Given the description of an element on the screen output the (x, y) to click on. 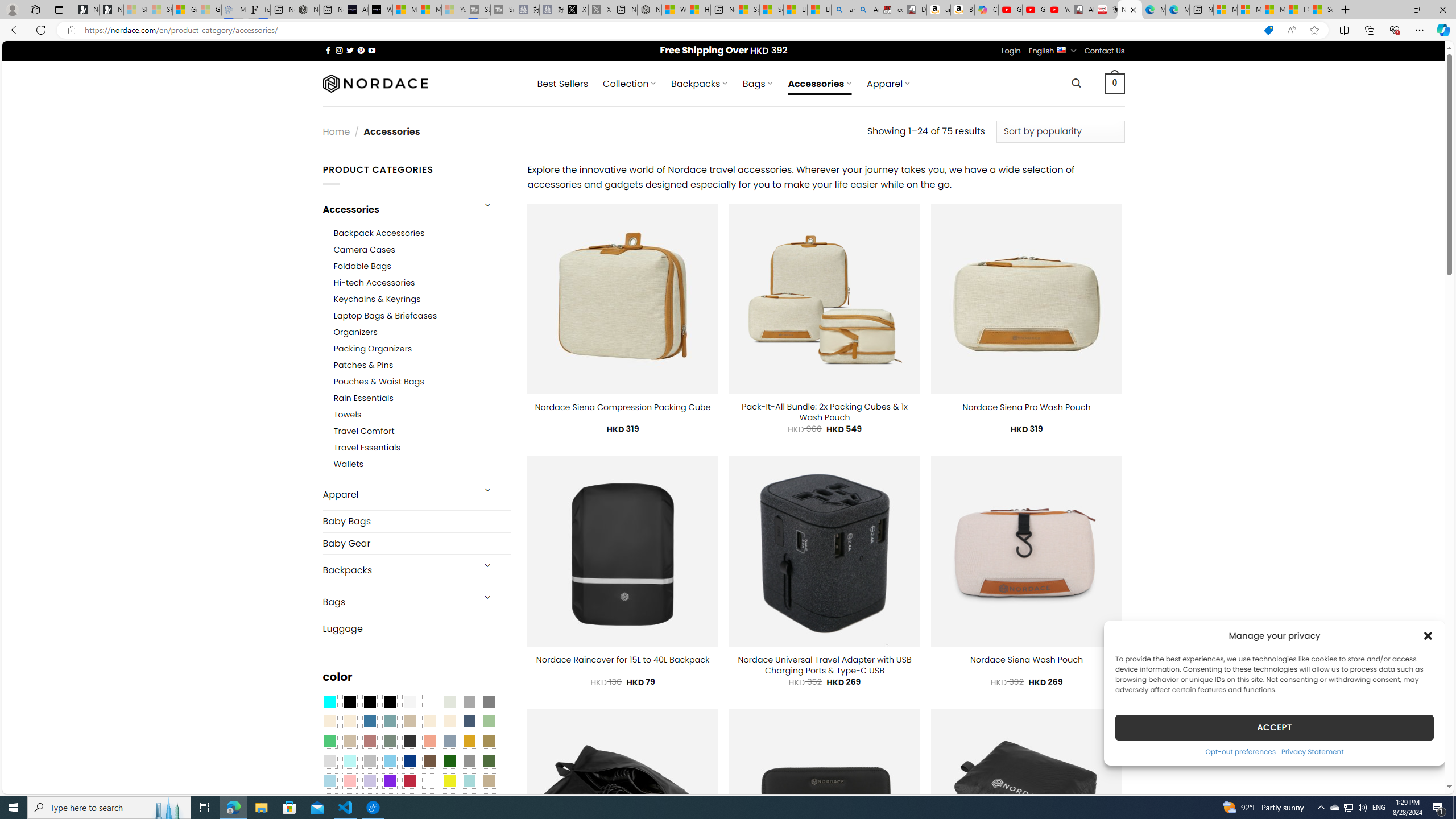
Light Taupe (349, 741)
Pouches & Waist Bags (422, 381)
Follow on Instagram (338, 49)
Nordace Raincover for 15L to 40L Backpack (622, 659)
Laptop Bags & Briefcases (384, 316)
Navy Blue (408, 761)
Light Blue (329, 780)
Travel Essentials (366, 448)
